Given the description of an element on the screen output the (x, y) to click on. 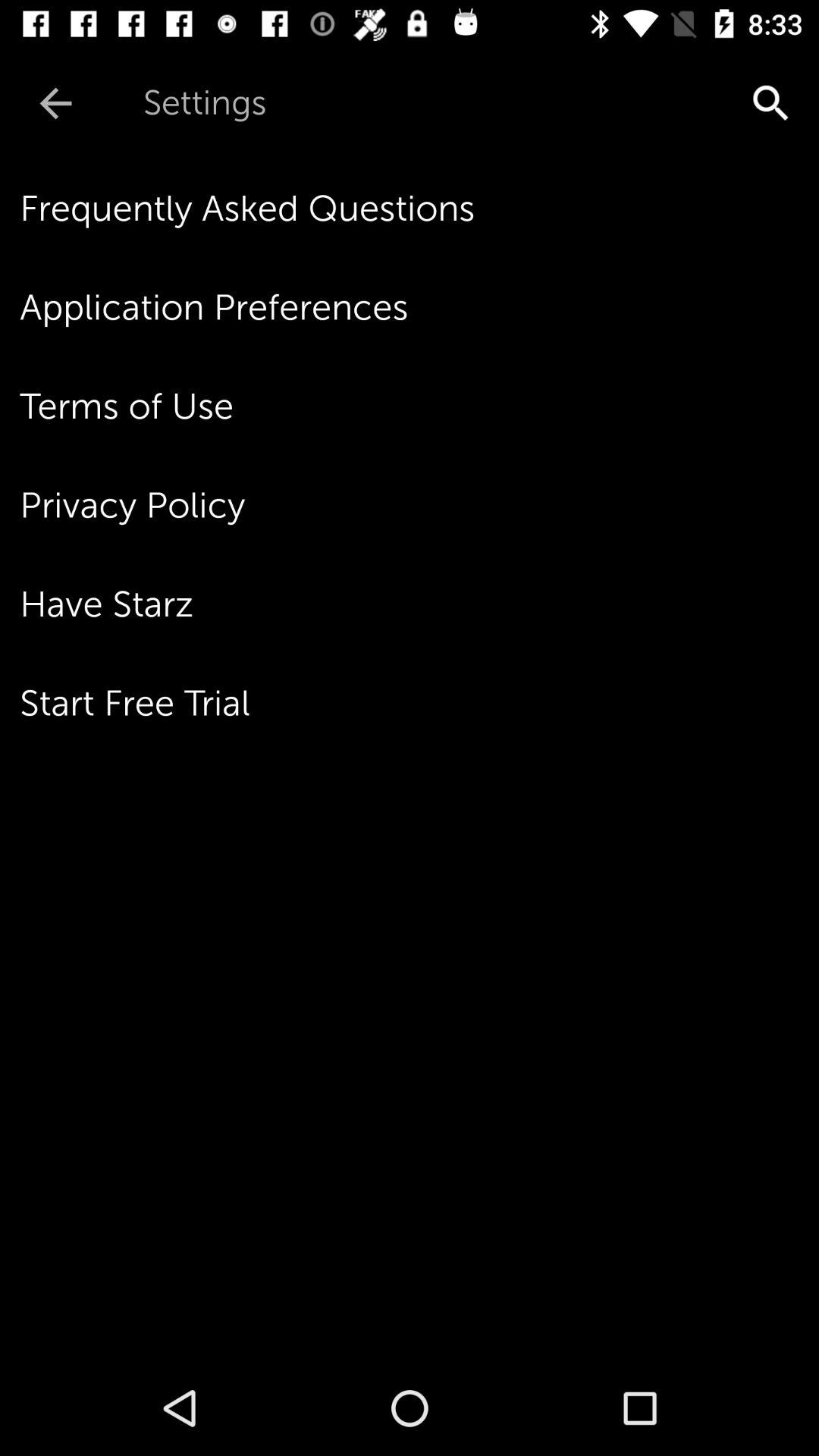
launch item above the privacy policy item (419, 406)
